Given the description of an element on the screen output the (x, y) to click on. 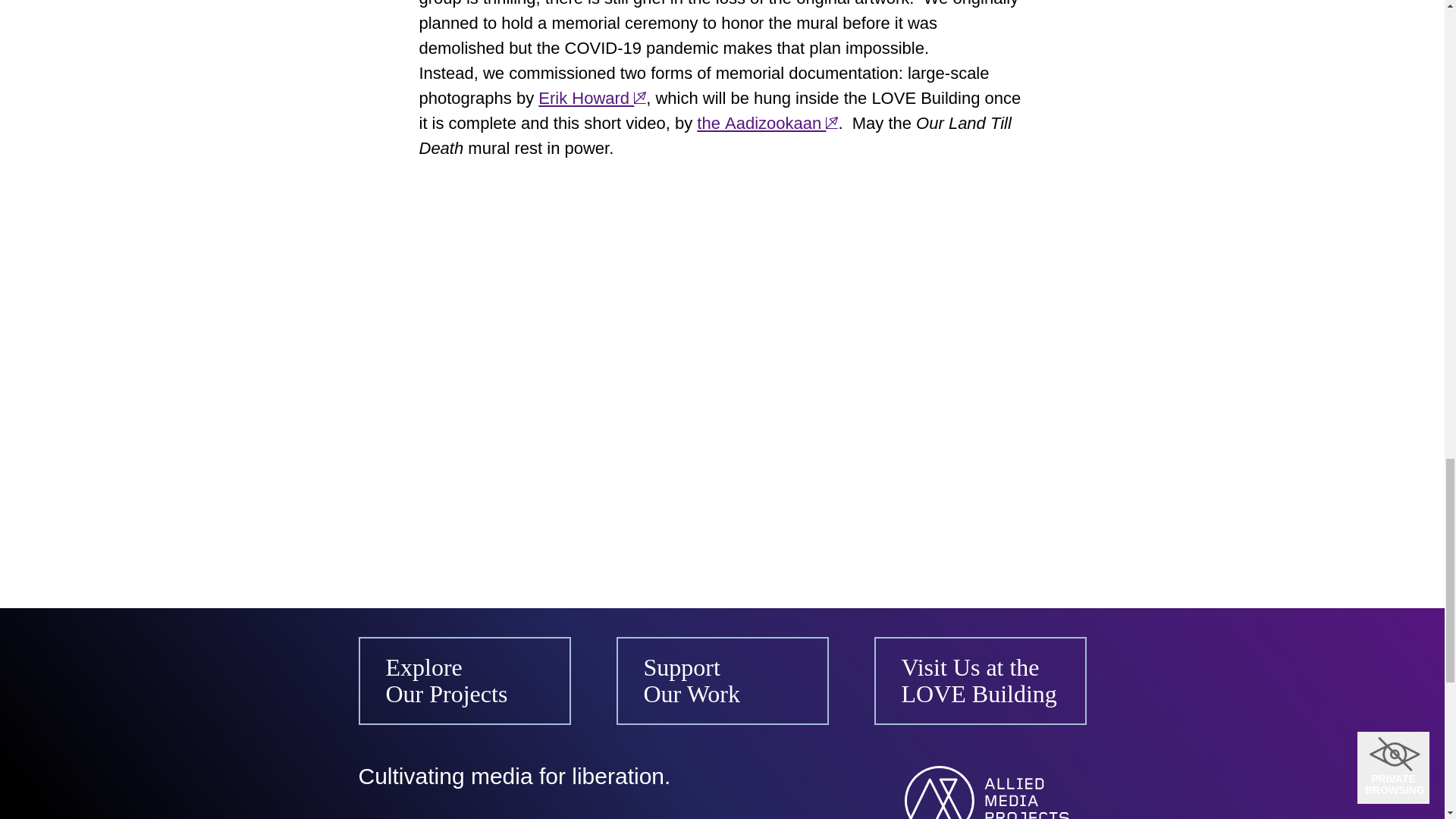
Allied Media Projects homepage (995, 792)
Visit Us at the LOVE Building (979, 680)
Explore Our Projects (464, 680)
Erik Howard (592, 97)
Support Our Work (721, 680)
the Aadizookaan (767, 122)
